Given the description of an element on the screen output the (x, y) to click on. 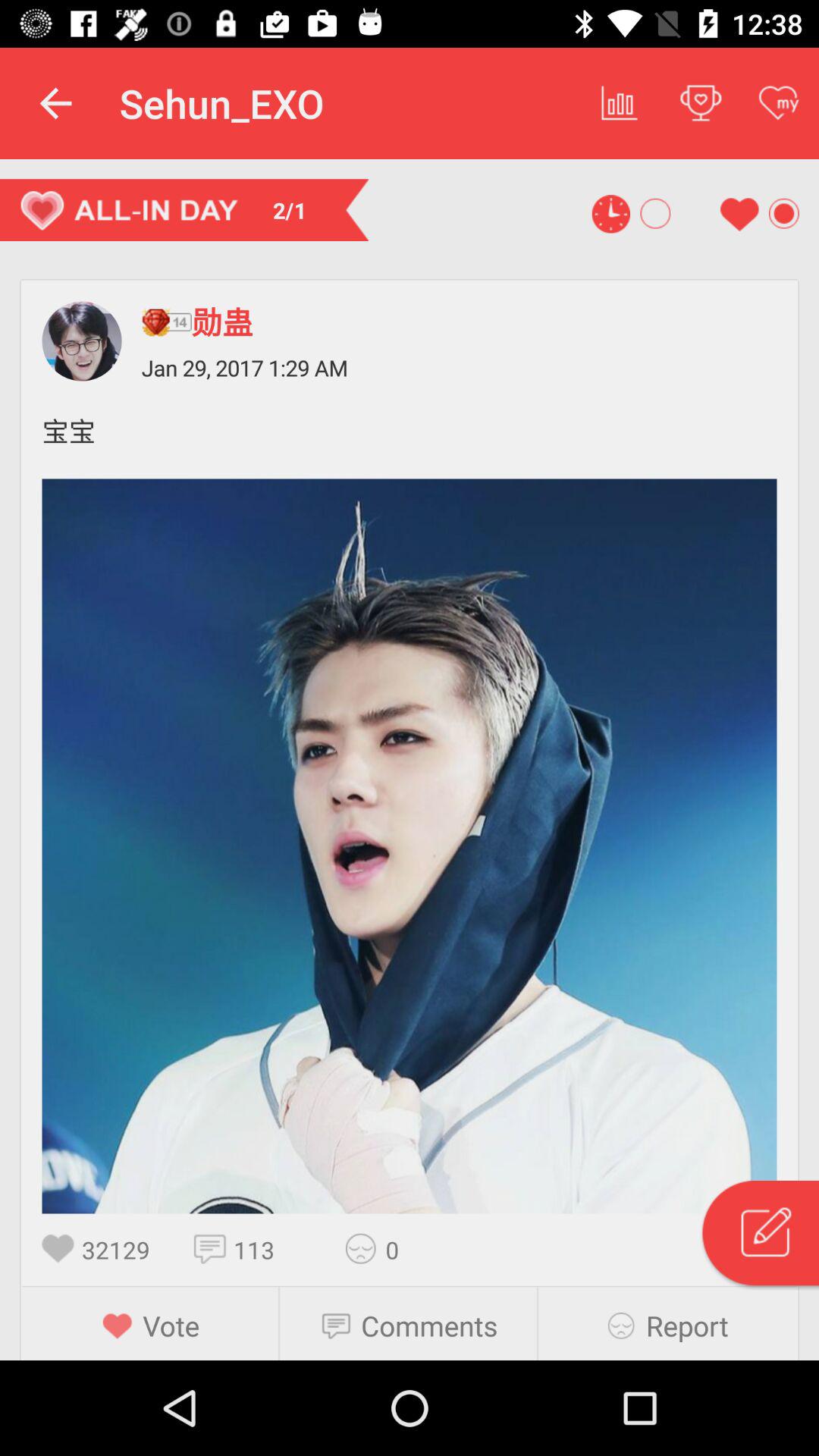
click the icon to the right of the vote item (341, 1325)
